Given the description of an element on the screen output the (x, y) to click on. 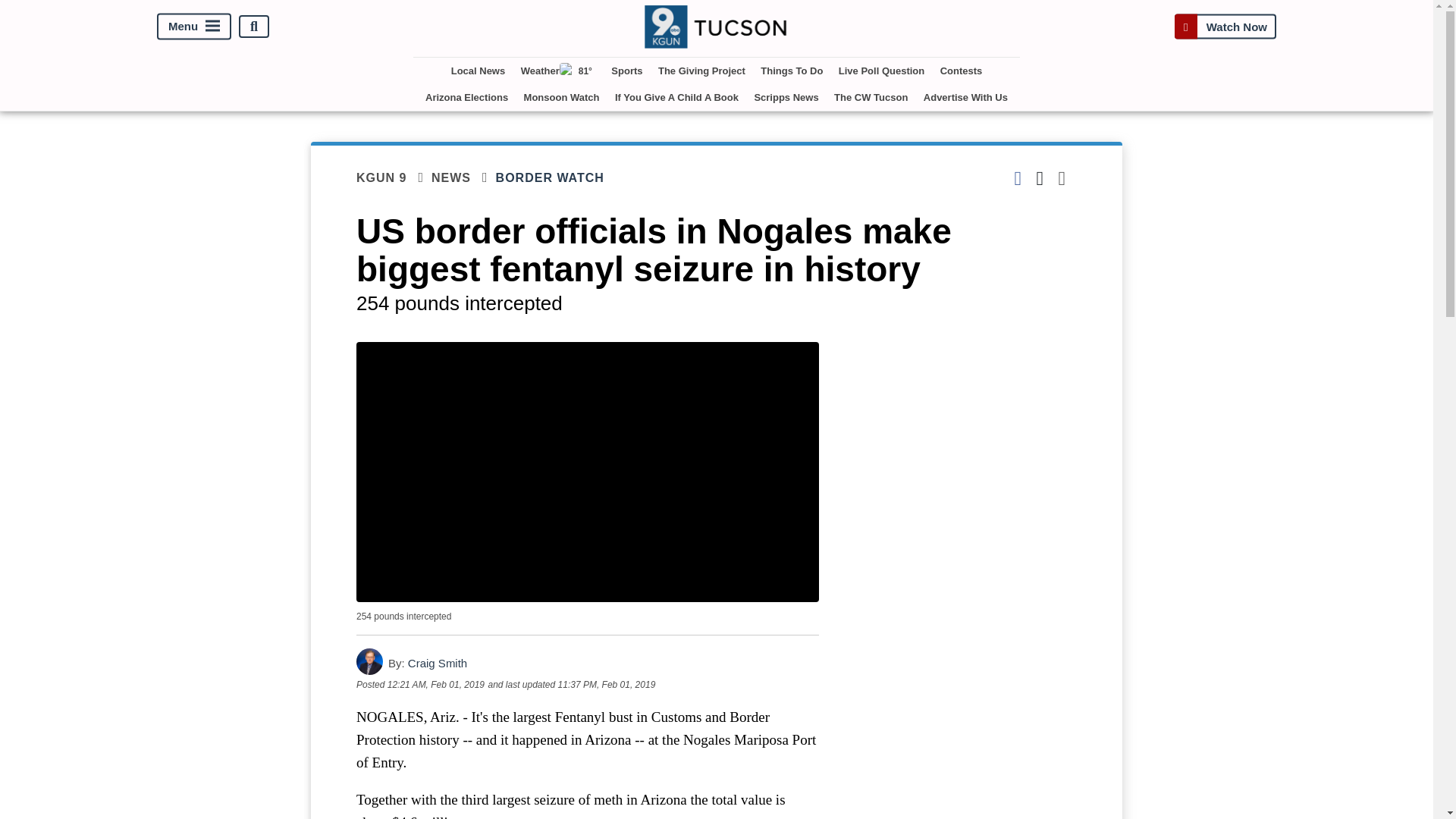
Menu (194, 26)
Watch Now (1224, 26)
